Given the description of an element on the screen output the (x, y) to click on. 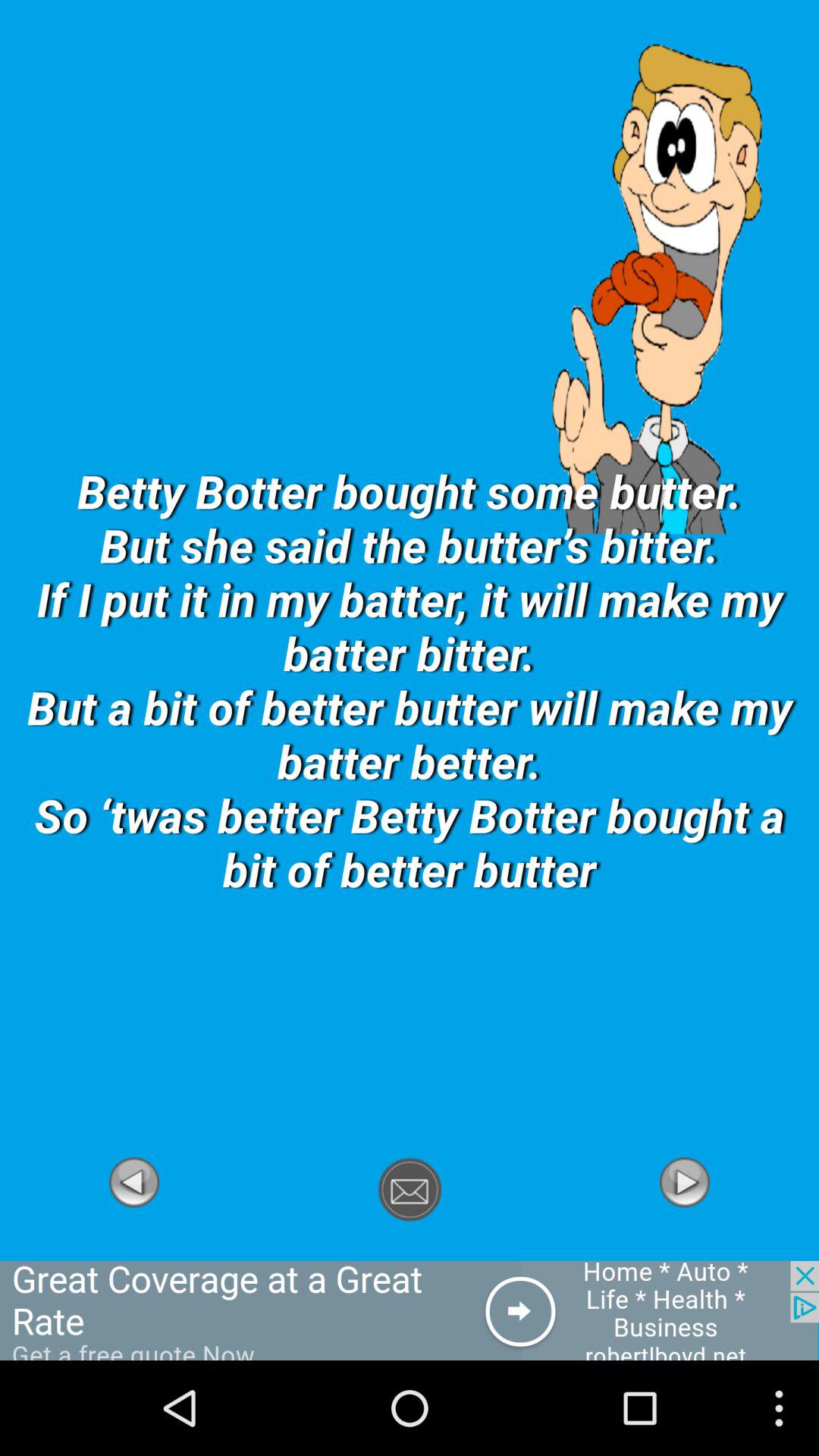
go to back (134, 1251)
